Given the description of an element on the screen output the (x, y) to click on. 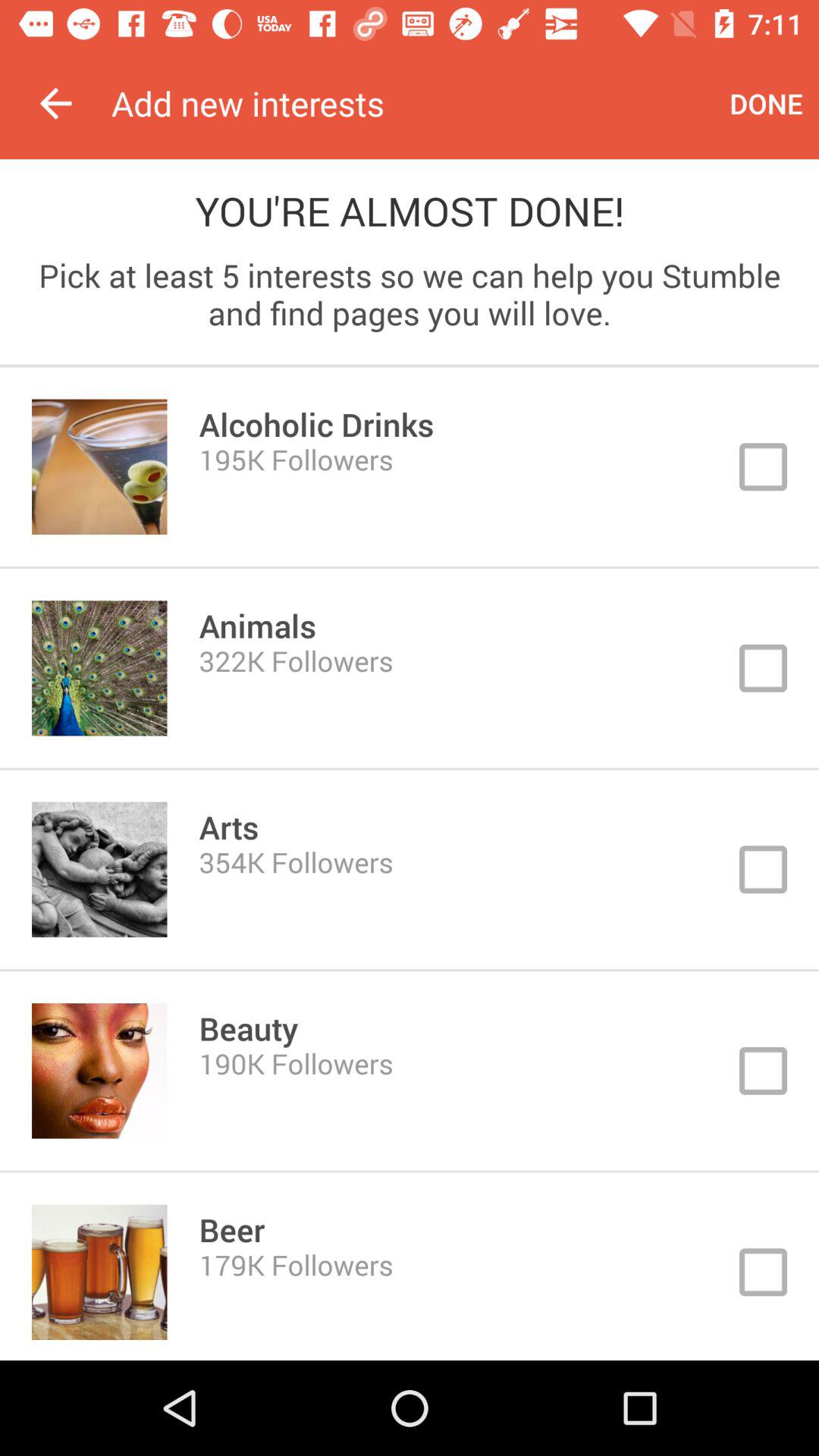
select one picture (409, 1070)
